Given the description of an element on the screen output the (x, y) to click on. 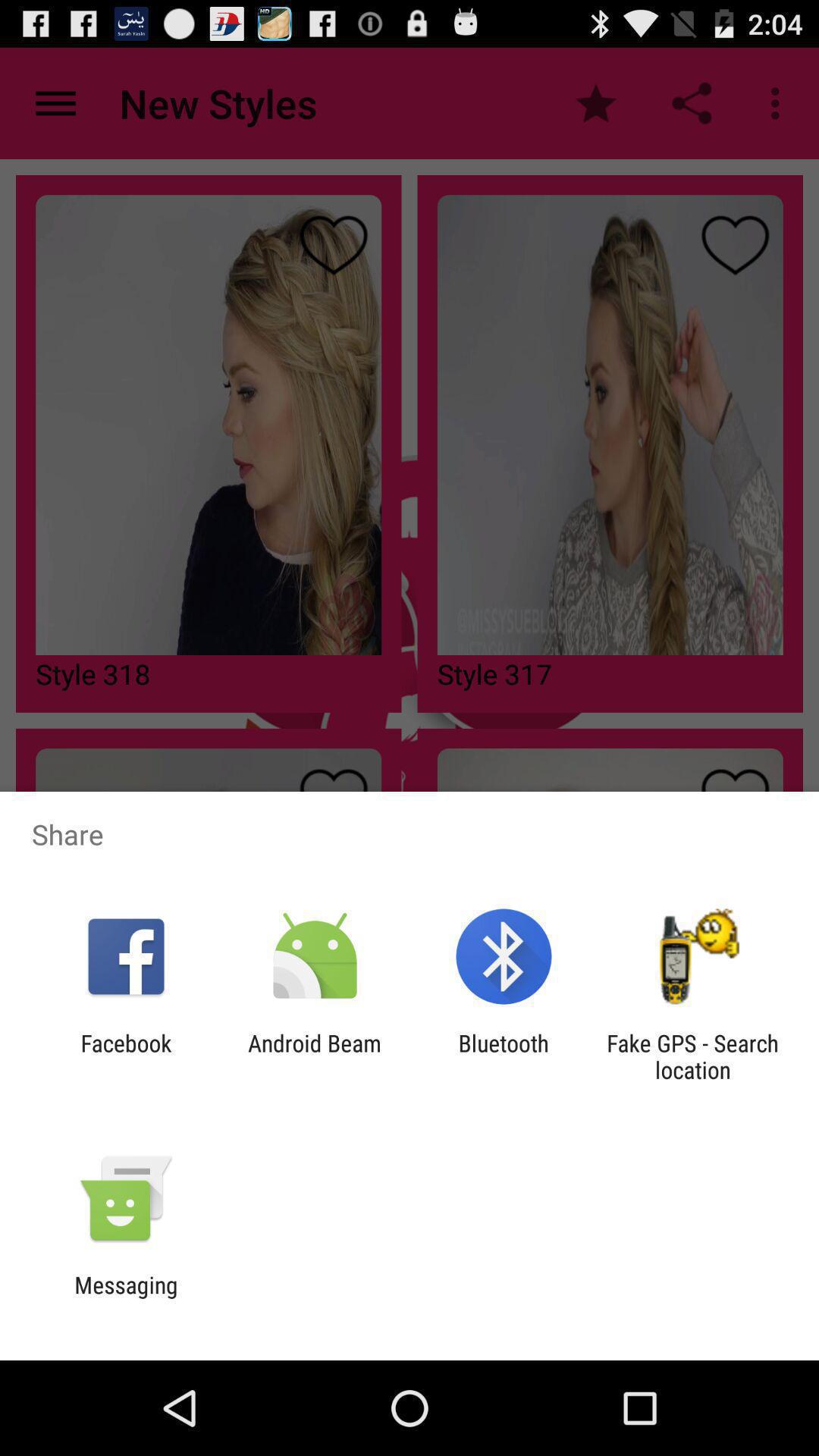
launch fake gps search at the bottom right corner (692, 1056)
